Given the description of an element on the screen output the (x, y) to click on. 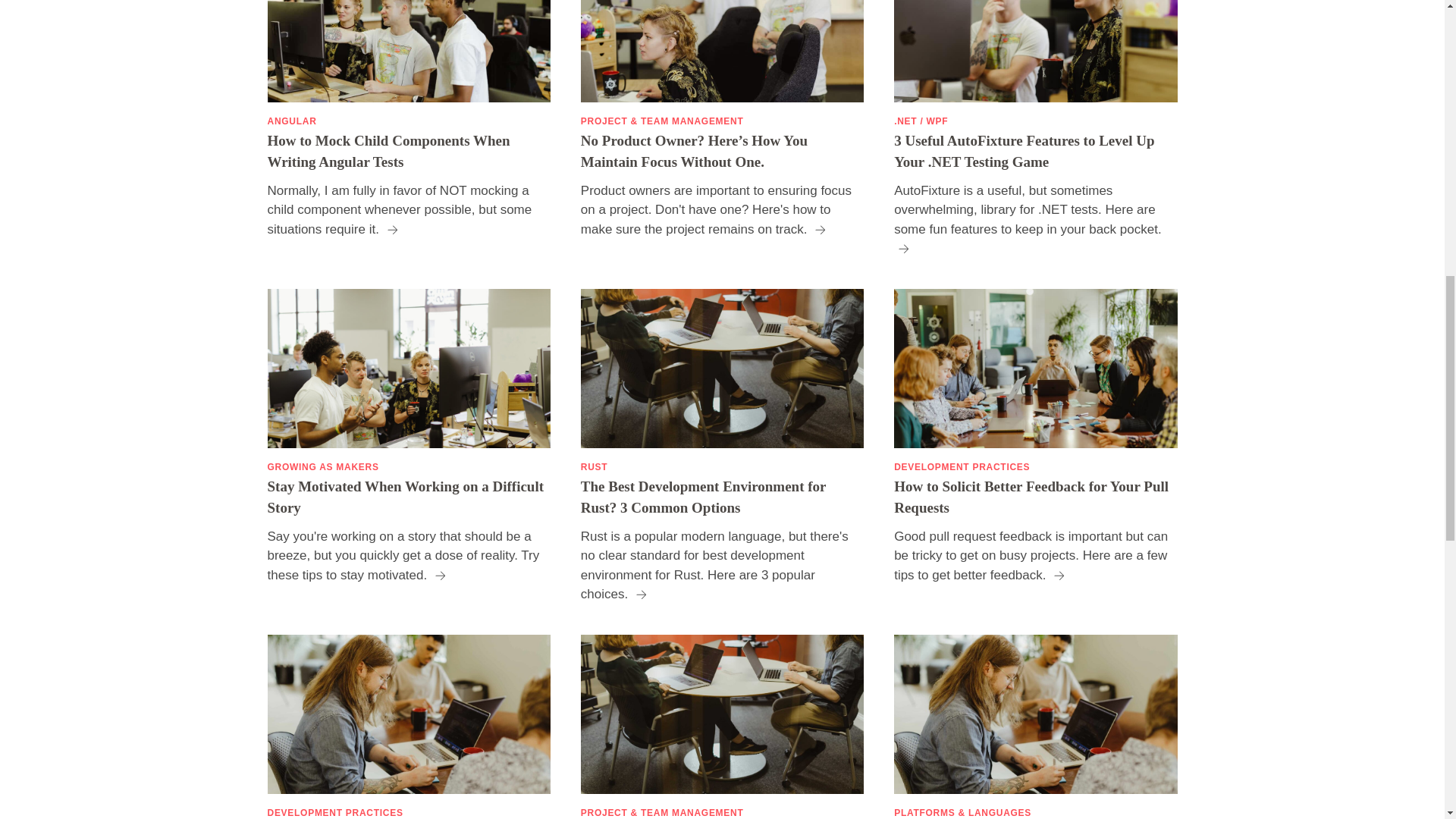
How to Mock Child Components When Writing Angular Tests (408, 151)
ANGULAR (290, 120)
